Given the description of an element on the screen output the (x, y) to click on. 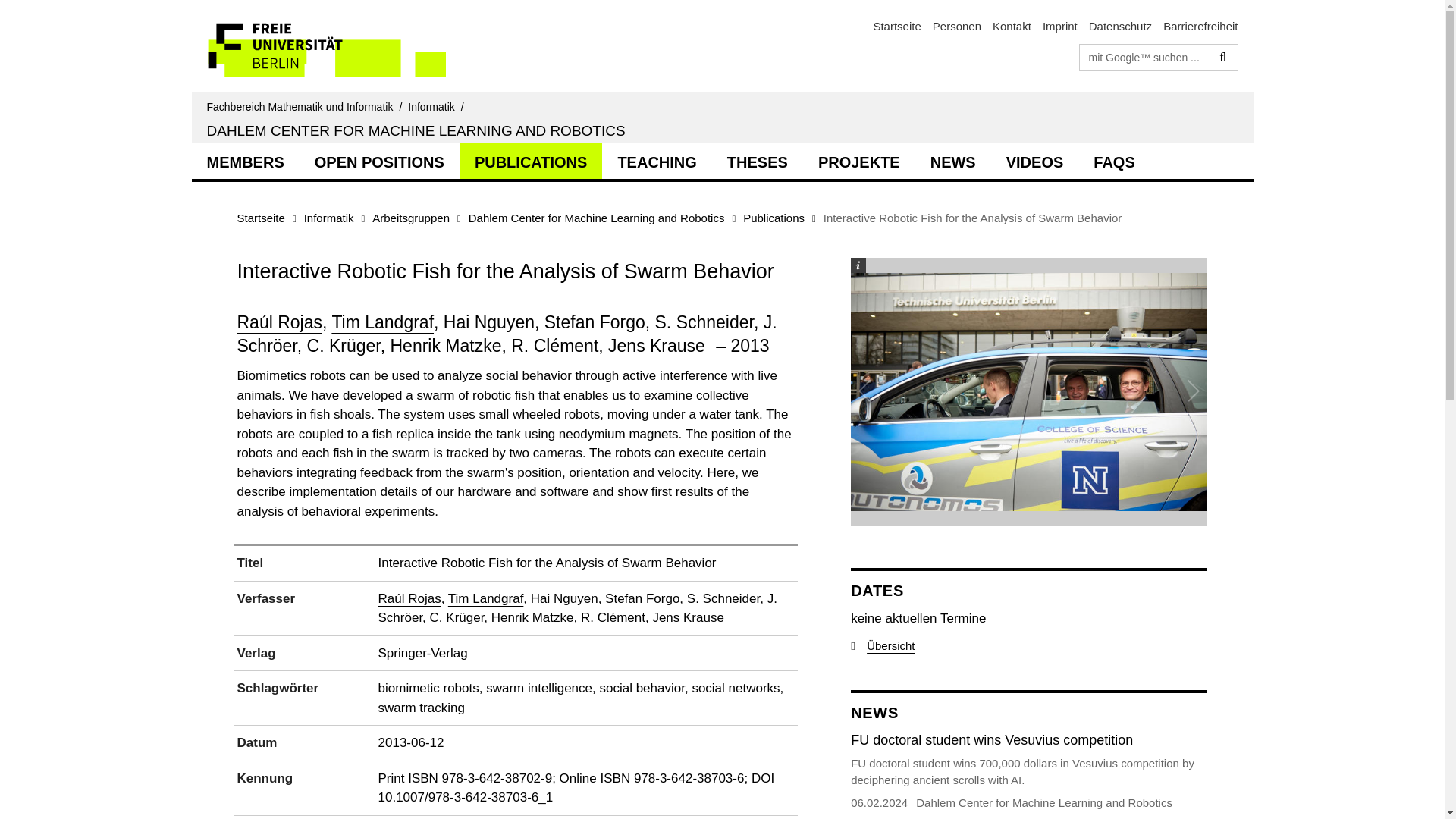
Zur Startseite von:  (306, 106)
Startseite (896, 25)
Zur Startseite von:  (437, 106)
Imprint (1059, 25)
Zur Startseite von: Fachbereich Mathematik und Informatik (896, 25)
PUBLICATIONS (531, 160)
DAHLEM CENTER FOR MACHINE LEARNING AND ROBOTICS (415, 130)
Kontakt (1011, 25)
Quelle: Dahlem Center for Machine Learning and Robotics (1041, 802)
